Given the description of an element on the screen output the (x, y) to click on. 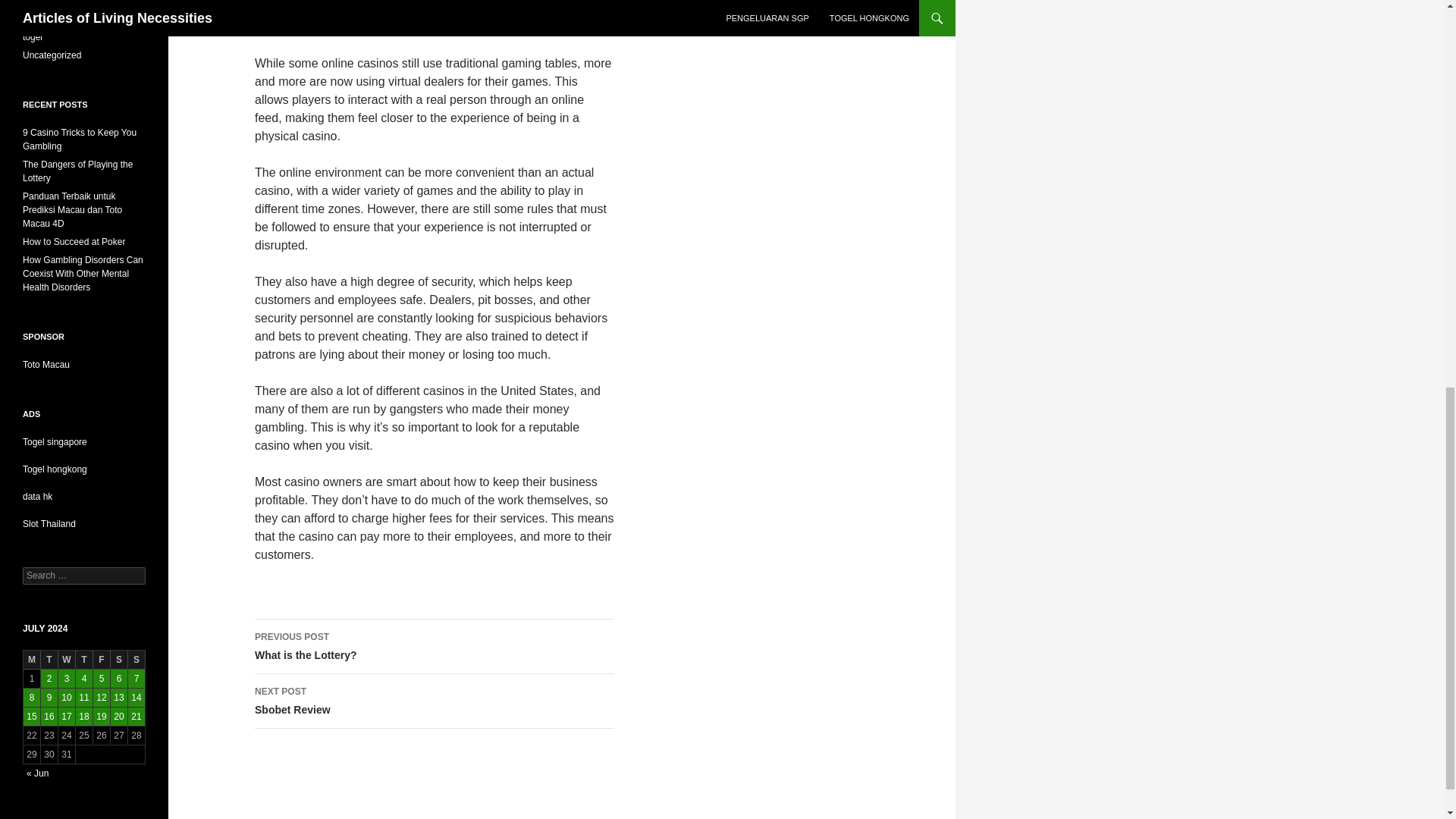
Monday (31, 659)
Sunday (136, 659)
Thursday (434, 646)
Wednesday (84, 659)
Tuesday (66, 659)
Friday (49, 659)
Saturday (434, 701)
